Given the description of an element on the screen output the (x, y) to click on. 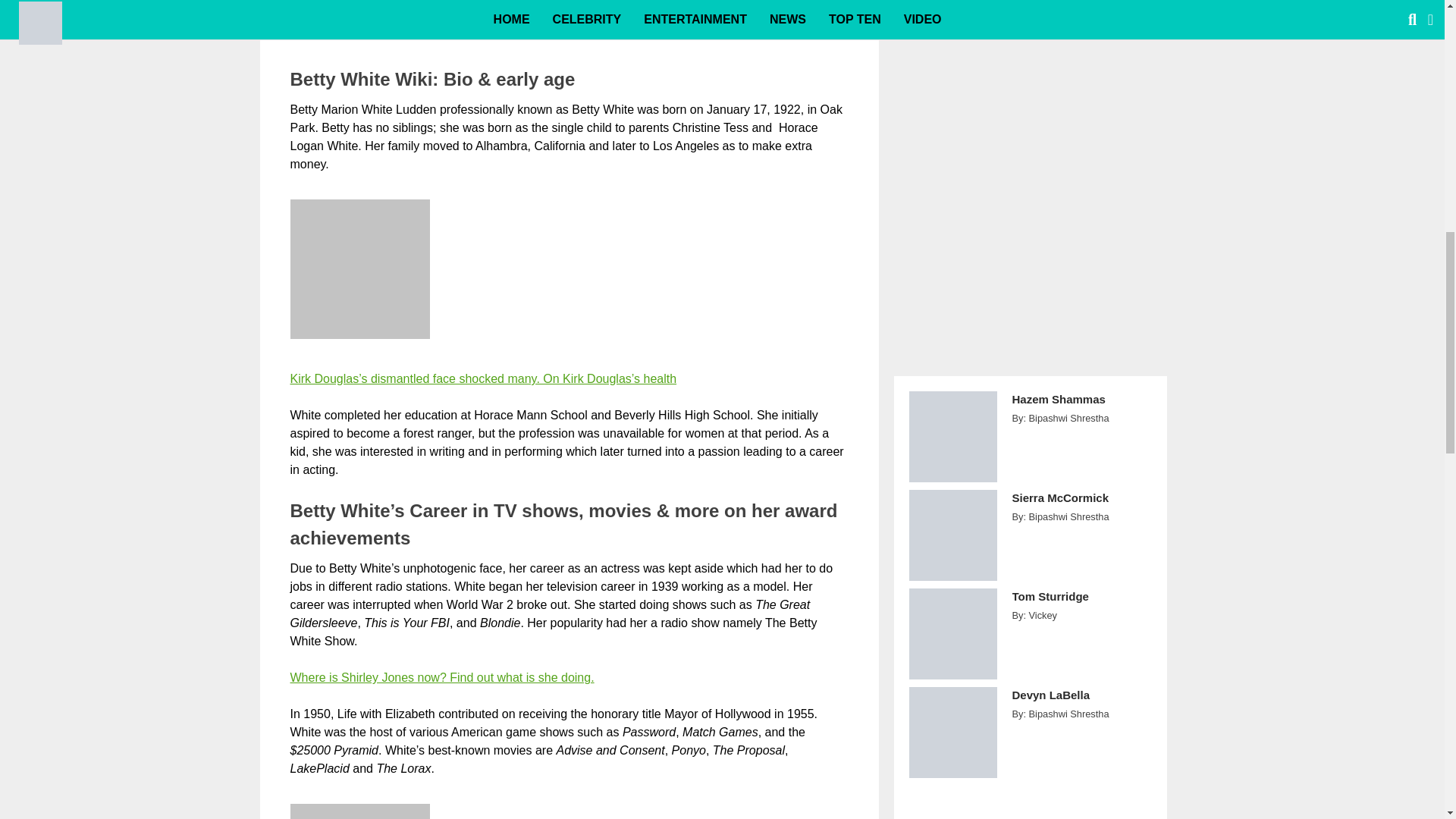
Betty White in her career stage and when she was young. (359, 811)
Whatever happened to The Golden Girls star Betty White? (568, 17)
Shirley Jones (441, 676)
Betty White is a Professional actress and a television host. (359, 269)
Where is Shirley Jones now? Find out what is she doing. (441, 676)
